Given the description of an element on the screen output the (x, y) to click on. 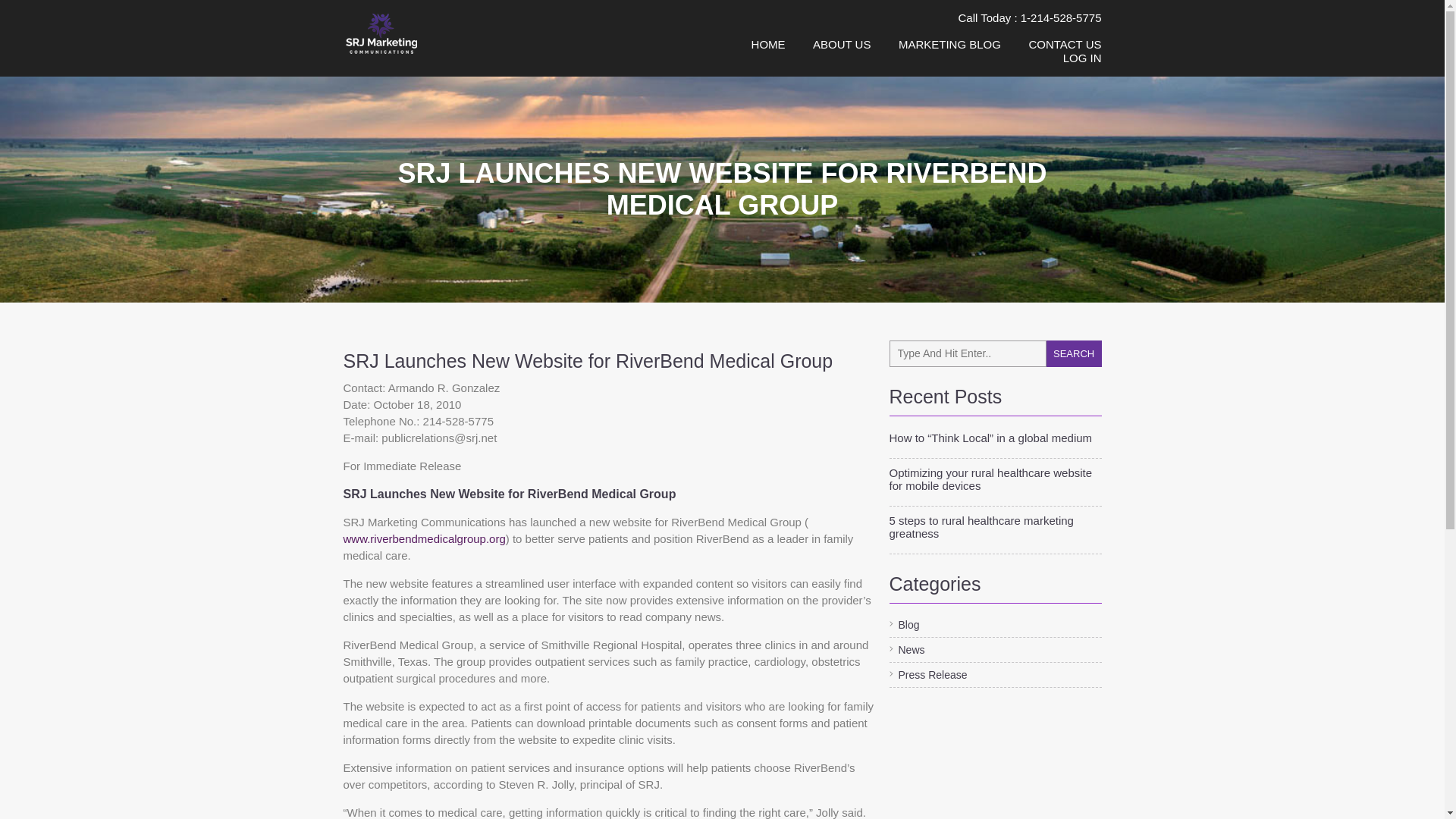
SRJ Marketing Communications (412, 33)
LOG IN (1082, 57)
MARKETING BLOG (949, 43)
News (906, 649)
ABOUT US (841, 43)
www.riverbendmedicalgroup.org (423, 538)
Optimizing your rural healthcare website for mobile devices (994, 479)
5 steps to rural healthcare marketing greatness (994, 526)
Blog (903, 624)
Press Release (927, 674)
SEARCH (1074, 353)
HOME (768, 43)
1-214-528-5775 (1061, 17)
CONTACT US (1063, 43)
